Given the description of an element on the screen output the (x, y) to click on. 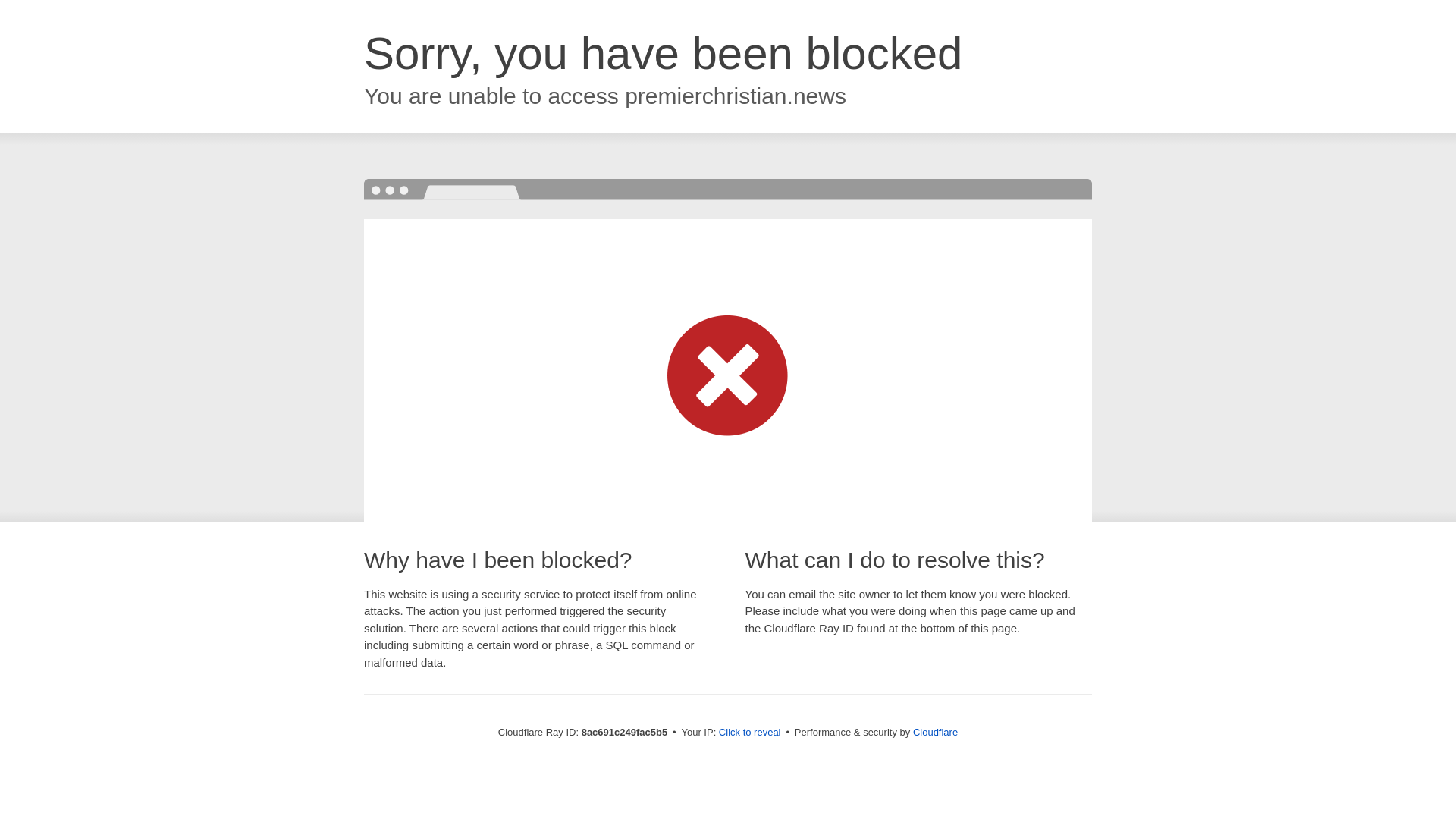
Click to reveal (749, 732)
Cloudflare (935, 731)
